Given the description of an element on the screen output the (x, y) to click on. 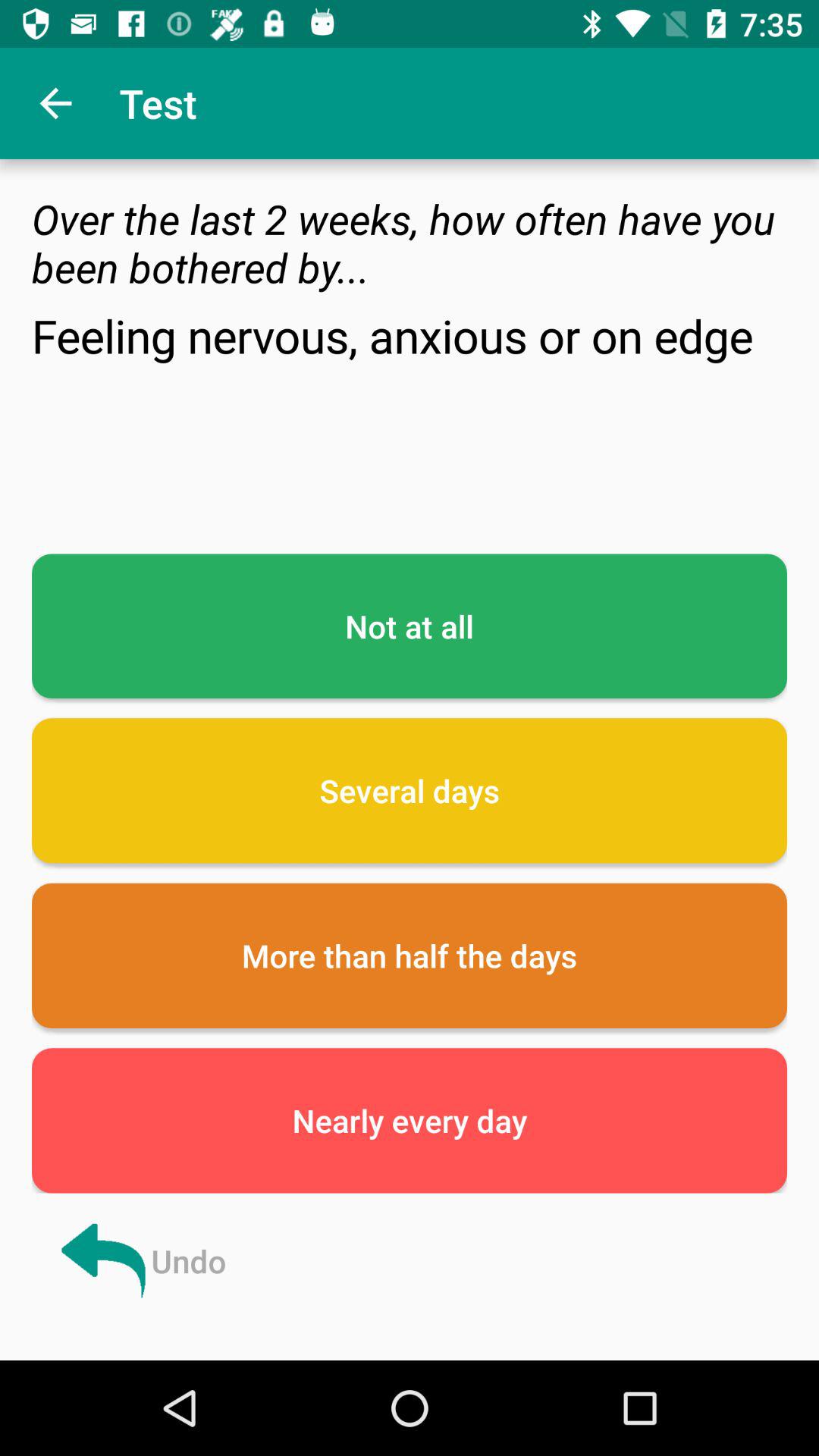
turn on the item below several days icon (409, 955)
